Given the description of an element on the screen output the (x, y) to click on. 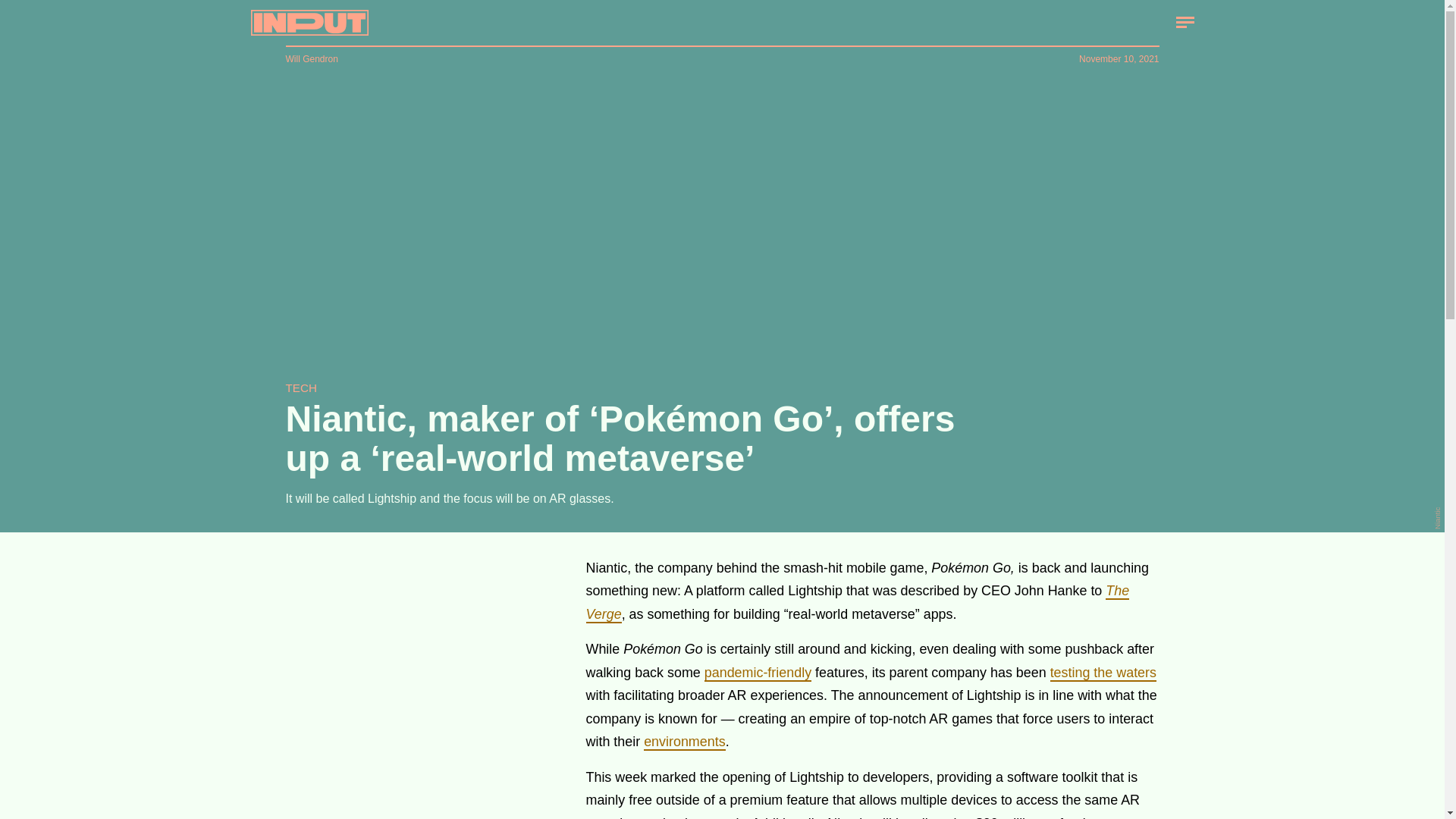
Input (309, 22)
environments (684, 742)
The Verge (857, 602)
testing the waters (1102, 673)
pandemic-friendly (757, 673)
